Given the description of an element on the screen output the (x, y) to click on. 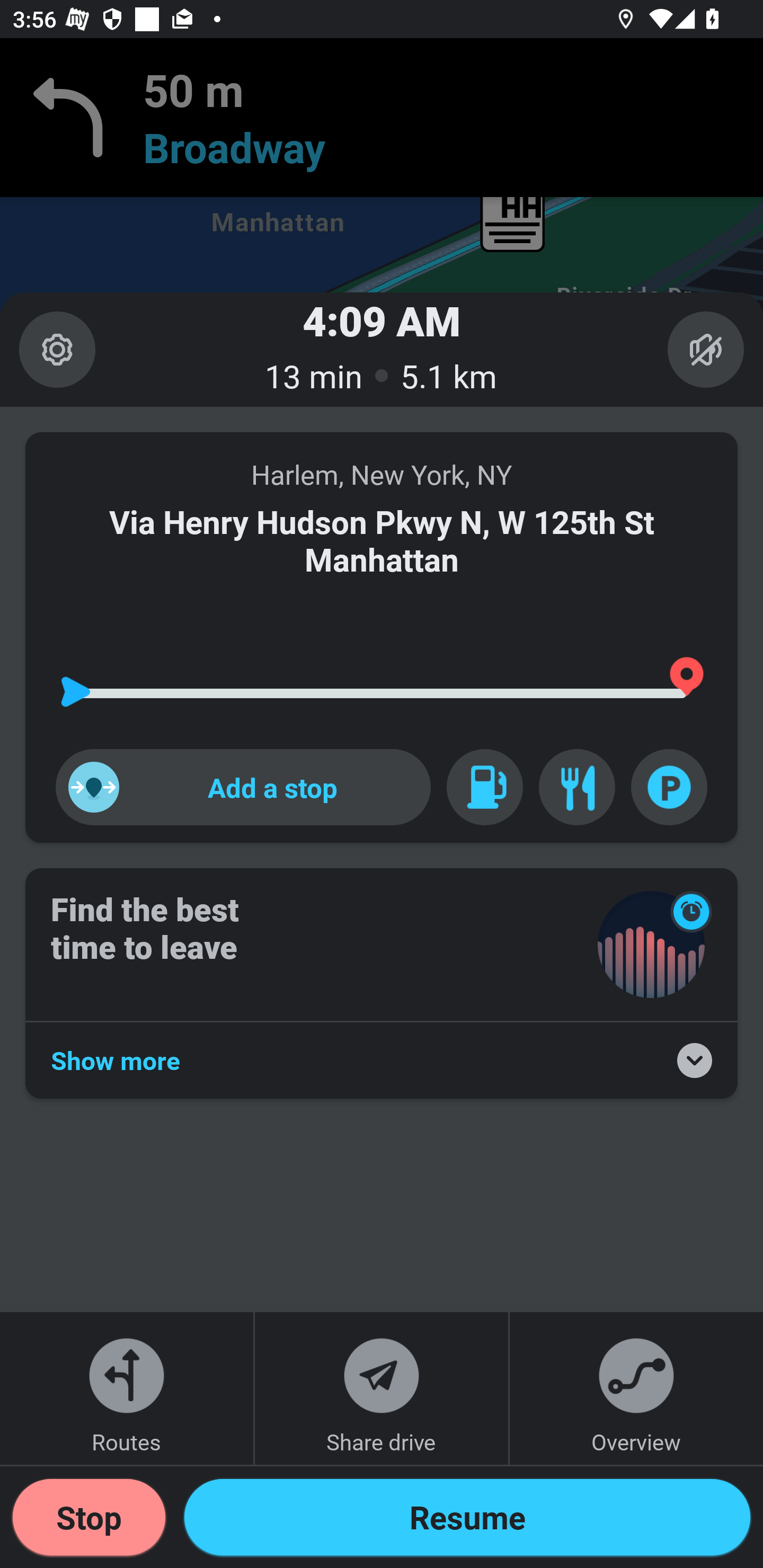
50 m Broadway (381, 117)
4:09 AM 13 min 5.1 km (381, 348)
Add a stop (243, 787)
Find the best time to leave Show more (381, 983)
Routes (126, 1388)
Share drive (381, 1388)
Overview (636, 1388)
Stop (88, 1516)
ETA_DRAWER_GO_BUTTON Resume (466, 1516)
